Given the description of an element on the screen output the (x, y) to click on. 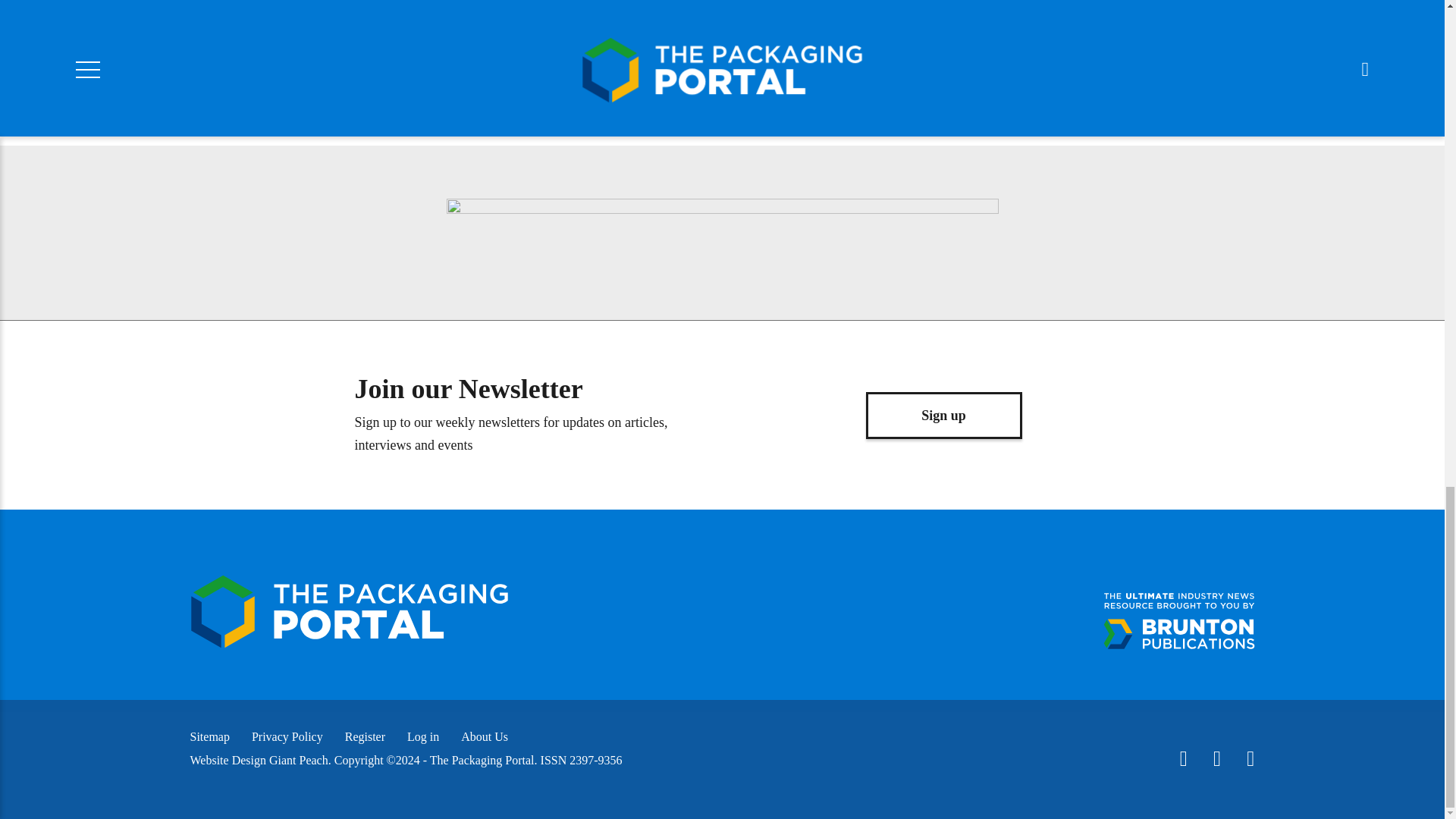
Share on LinkedIn (582, 15)
Send link to friend (662, 15)
About Us (484, 736)
Register (365, 736)
Log in (423, 736)
Sign up (944, 415)
Sitemap (208, 736)
Share on Whatsapp (502, 15)
Share on Facebook (403, 15)
Privacy Policy (287, 736)
